Given the description of an element on the screen output the (x, y) to click on. 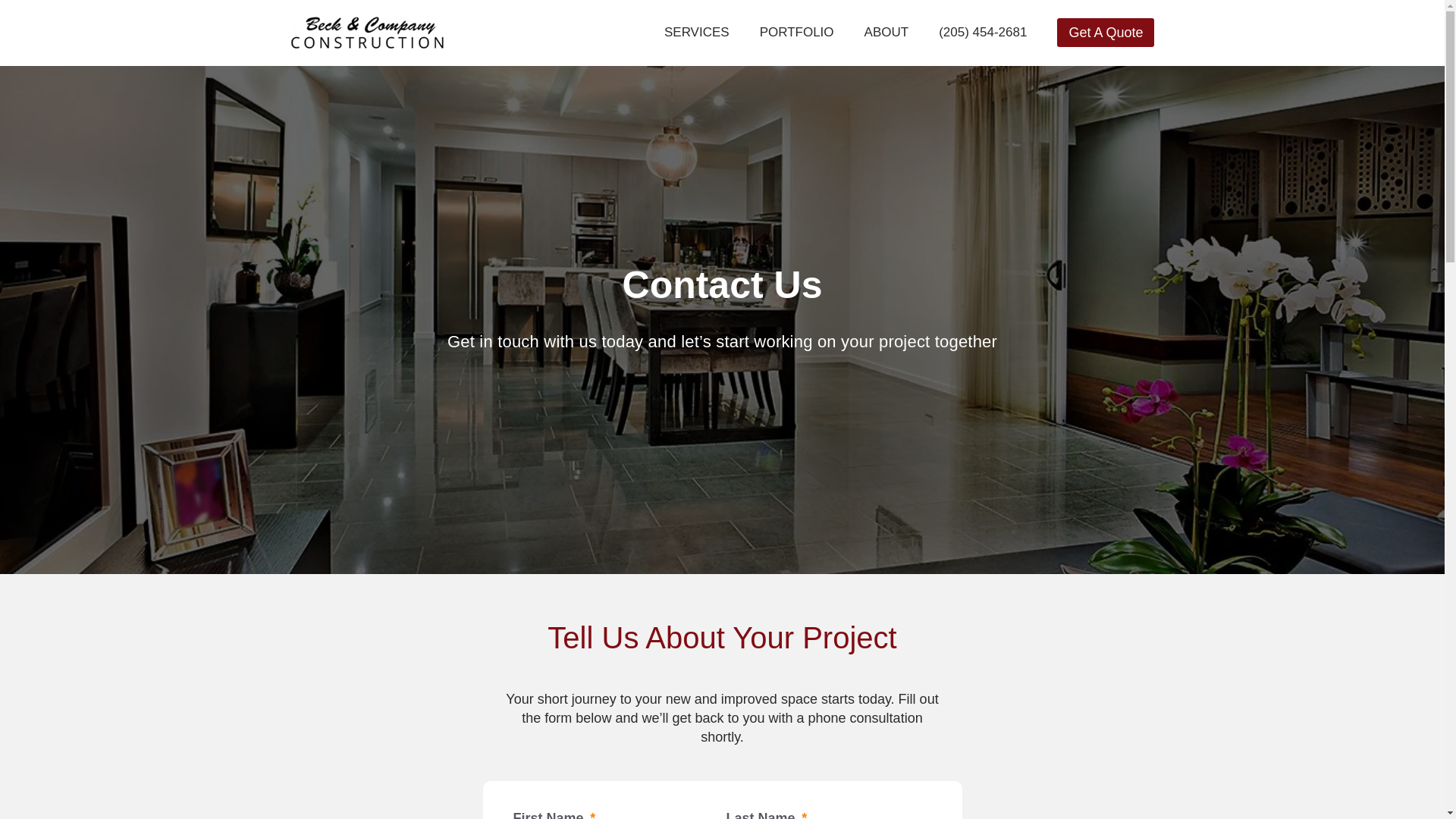
Get A Quote (1105, 32)
PORTFOLIO (796, 32)
ABOUT (886, 32)
SERVICES (696, 32)
